Given the description of an element on the screen output the (x, y) to click on. 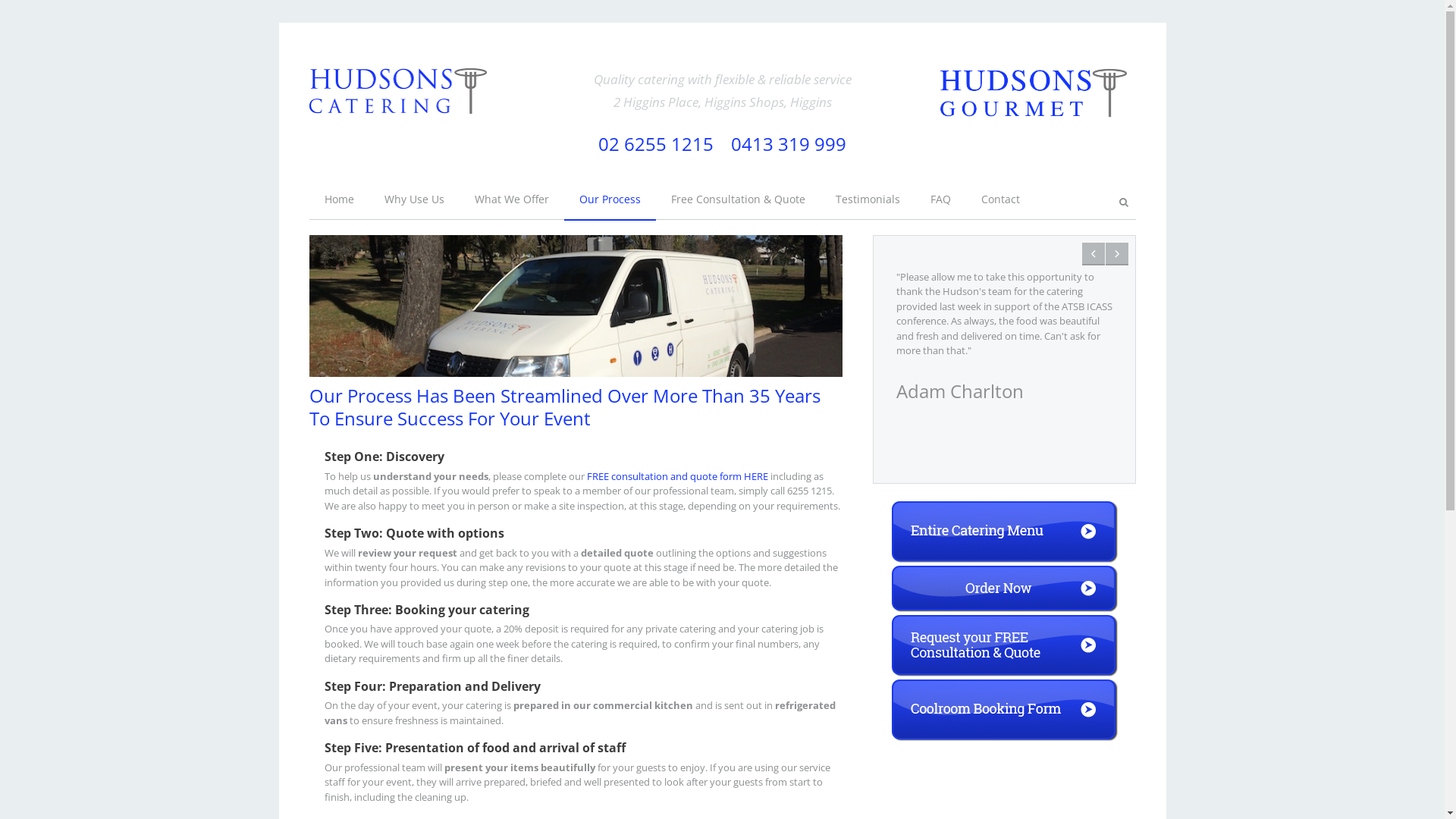
Why Use Us Element type: text (413, 199)
Home Element type: text (339, 199)
Free Consultation & Quote Element type: text (737, 199)
02 6255 1215 Element type: text (655, 143)
Contact Element type: text (1000, 199)
What We Offer Element type: text (511, 199)
Our Process Element type: text (609, 199)
FAQ Element type: text (939, 199)
0413 319 999 Element type: text (788, 143)
FREE consultation and quote form HERE Element type: text (677, 476)
Testimonials Element type: text (867, 199)
